Given the description of an element on the screen output the (x, y) to click on. 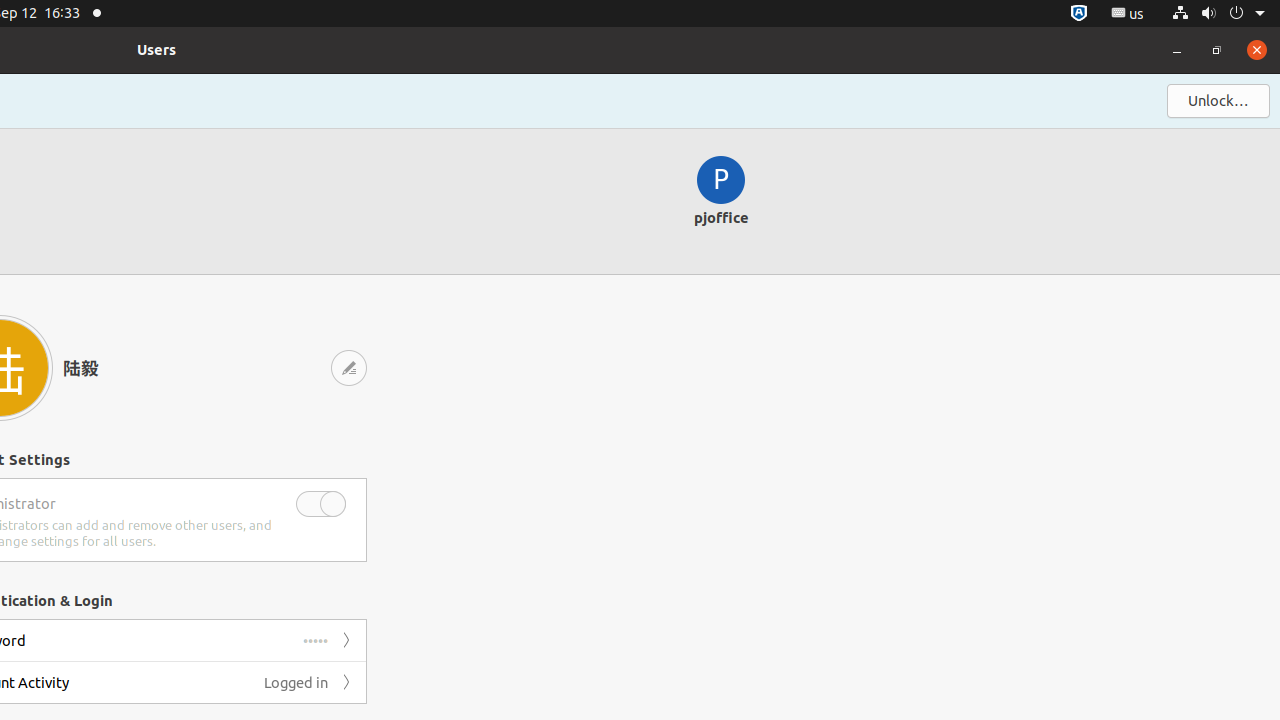
Logged in Element type: label (296, 682)
Users Element type: label (157, 49)
